Given the description of an element on the screen output the (x, y) to click on. 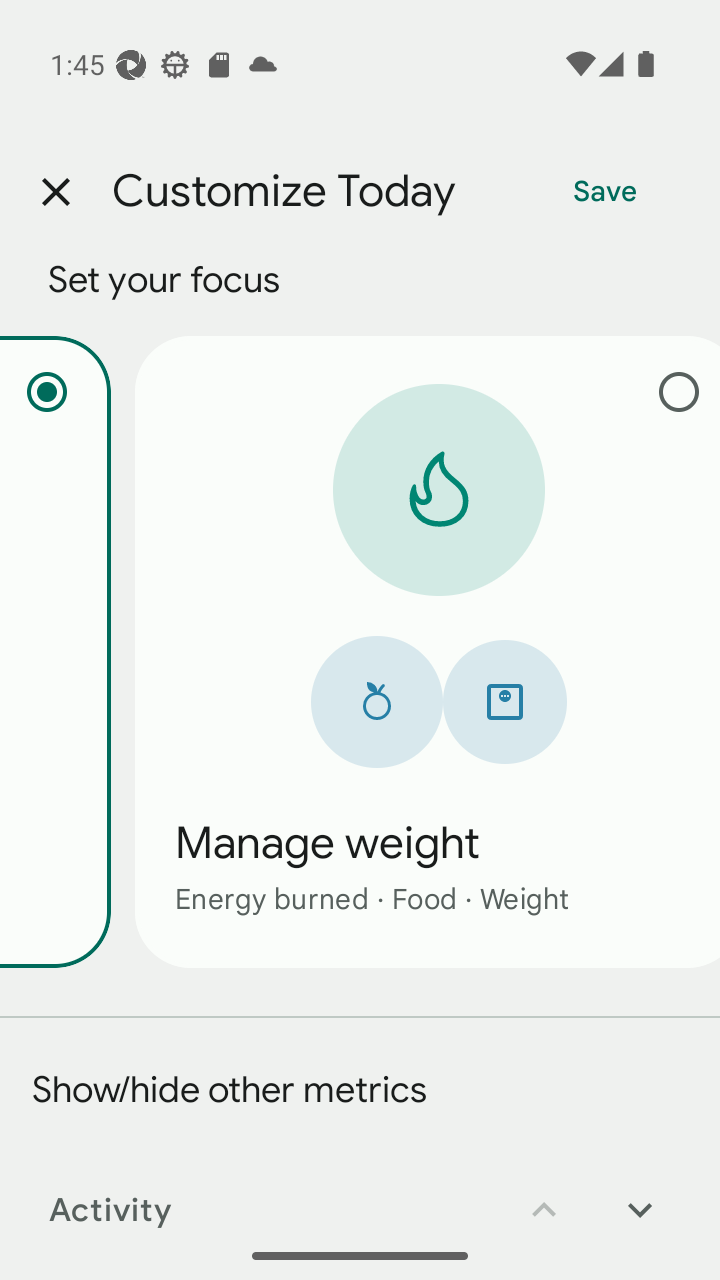
Close (55, 191)
Save (605, 191)
Manage weight Energy burned · Food · Weight (427, 651)
Move Activity up (543, 1196)
Move Activity down (639, 1196)
